Given the description of an element on the screen output the (x, y) to click on. 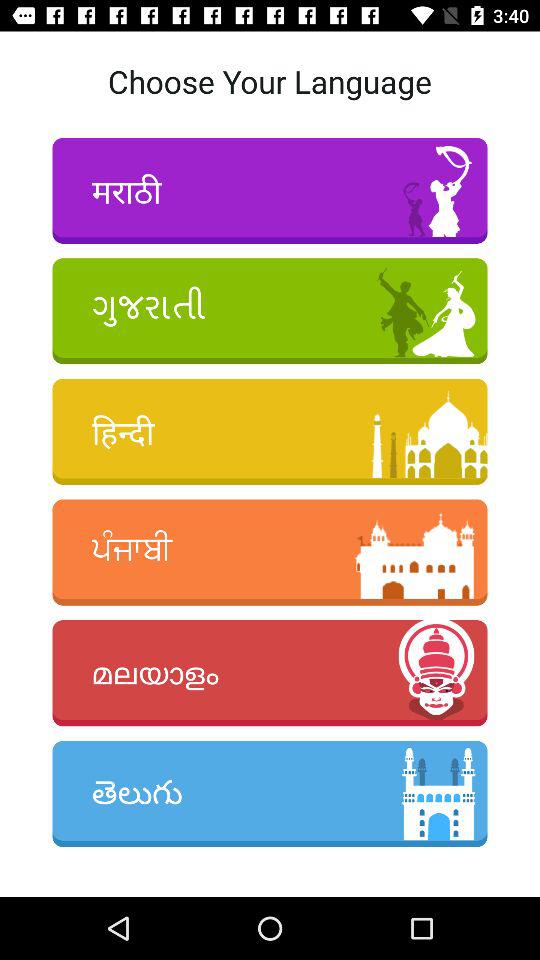
open item below choose your language (269, 190)
